Given the description of an element on the screen output the (x, y) to click on. 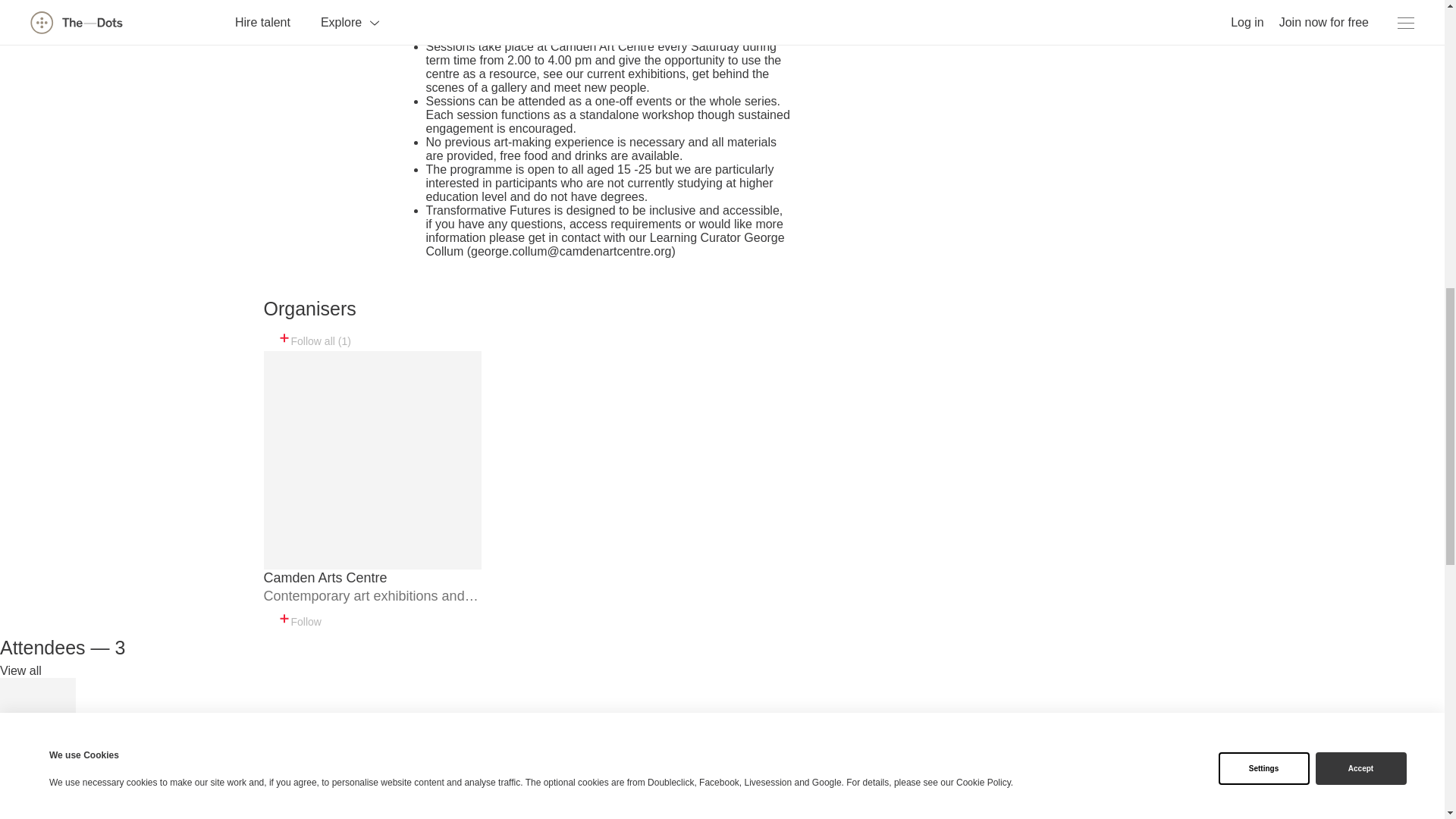
Mike Whyte (35, 762)
Follow (298, 618)
Connect (40, 801)
View all (21, 671)
